Given the description of an element on the screen output the (x, y) to click on. 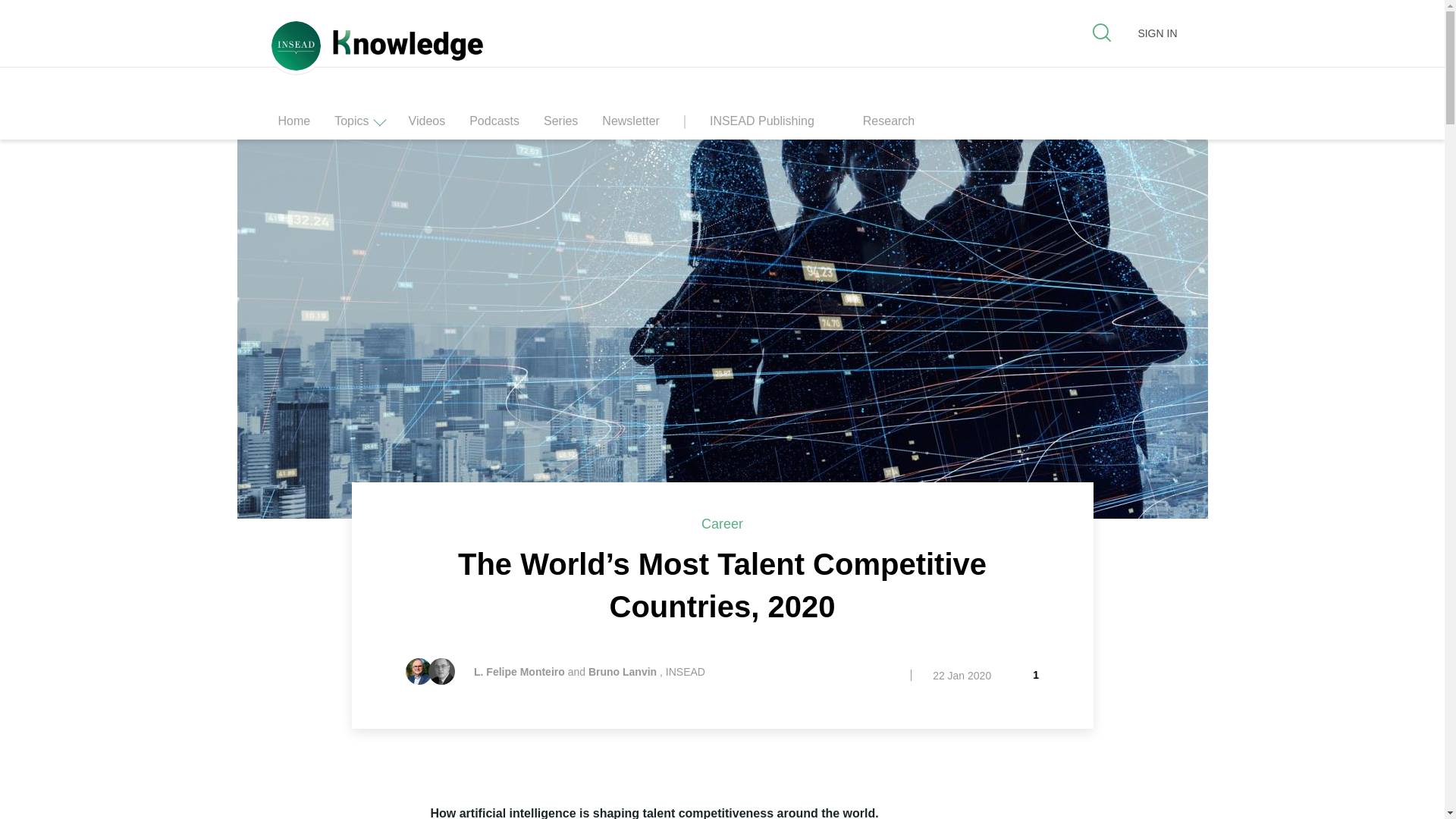
Home (294, 125)
Share on LinkedIn (371, 811)
Research (901, 125)
Videos (427, 125)
SIGN IN (1156, 33)
bruno lanvin.jpg (441, 671)
Bruno Lanvin (622, 671)
Career (721, 523)
Newsletter (630, 125)
